Given the description of an element on the screen output the (x, y) to click on. 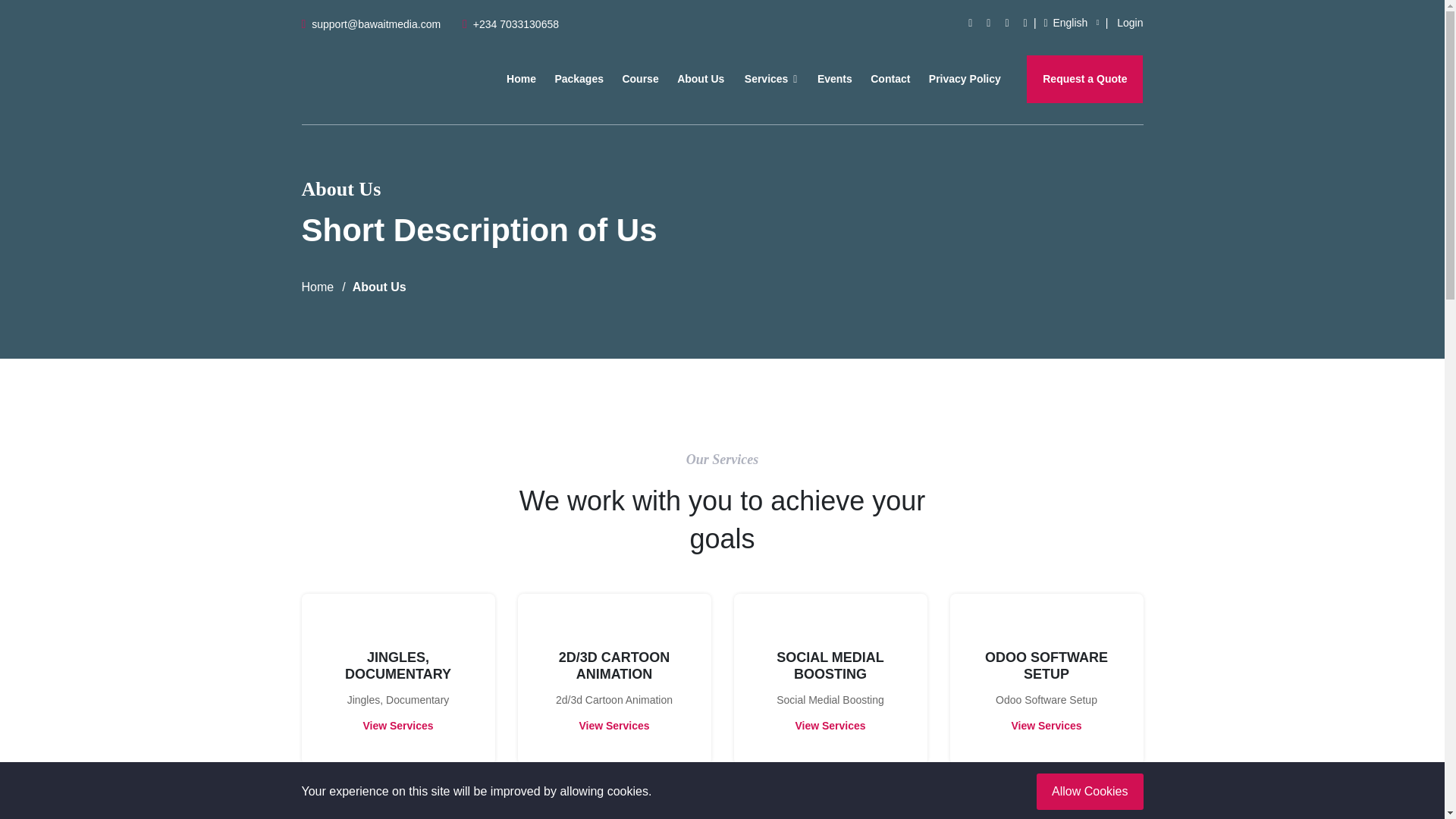
Packages (579, 78)
View Services (613, 725)
Login (1129, 23)
Privacy Policy (965, 78)
Contact (890, 78)
Home (521, 78)
Services (770, 78)
English (1071, 23)
View Services (1045, 725)
View Services (397, 725)
Request a Quote (1084, 79)
About Us (700, 78)
View Services (829, 725)
Course (639, 78)
Events (834, 78)
